Given the description of an element on the screen output the (x, y) to click on. 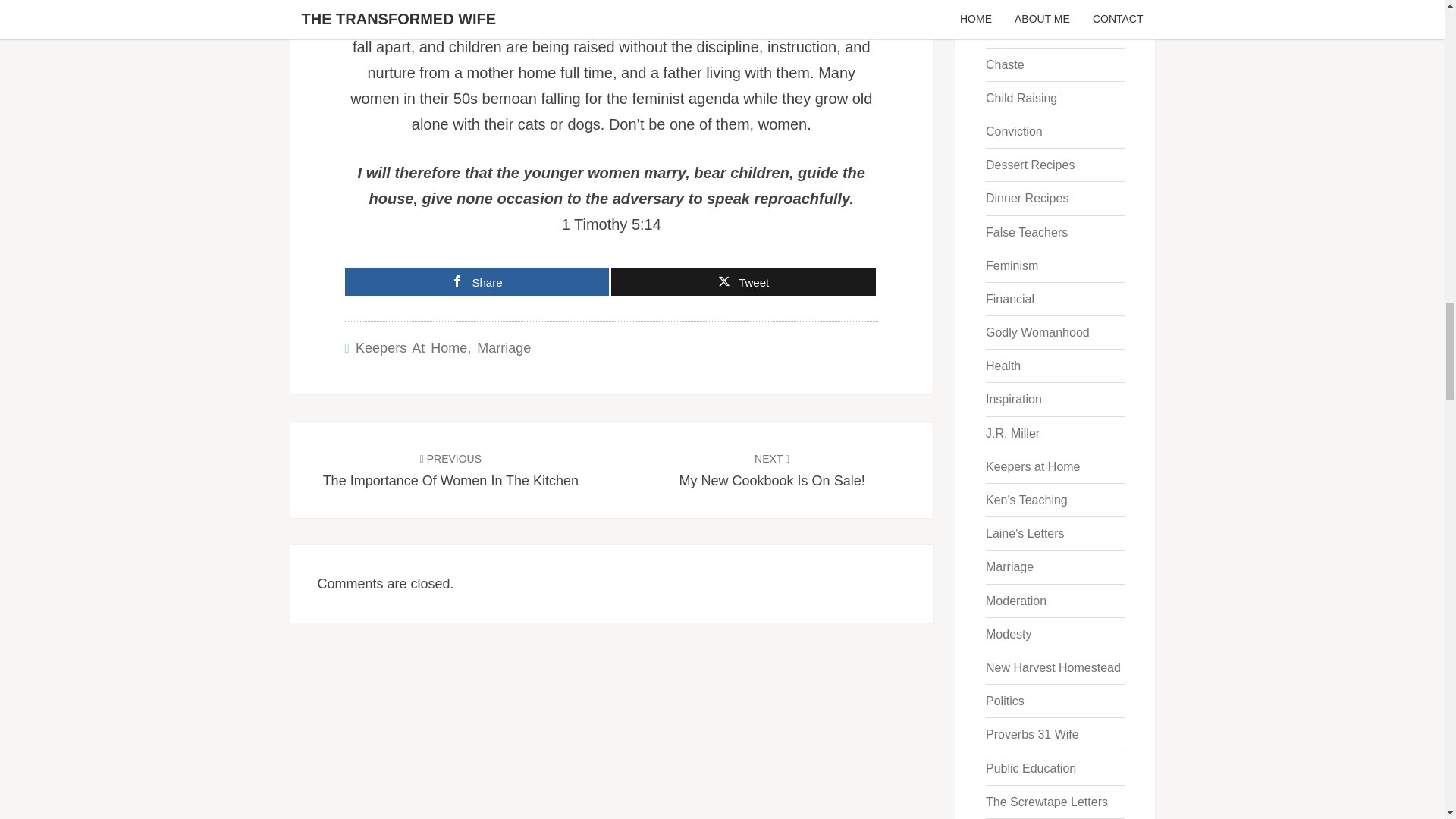
Keepers At Home (411, 347)
Child Raising (1021, 97)
Share (475, 281)
Charles Spurgeon (1034, 30)
Conviction (1013, 131)
Chaste (1005, 64)
Tweet (771, 469)
Breakfast Recipes (743, 281)
Marriage (1034, 2)
